Given the description of an element on the screen output the (x, y) to click on. 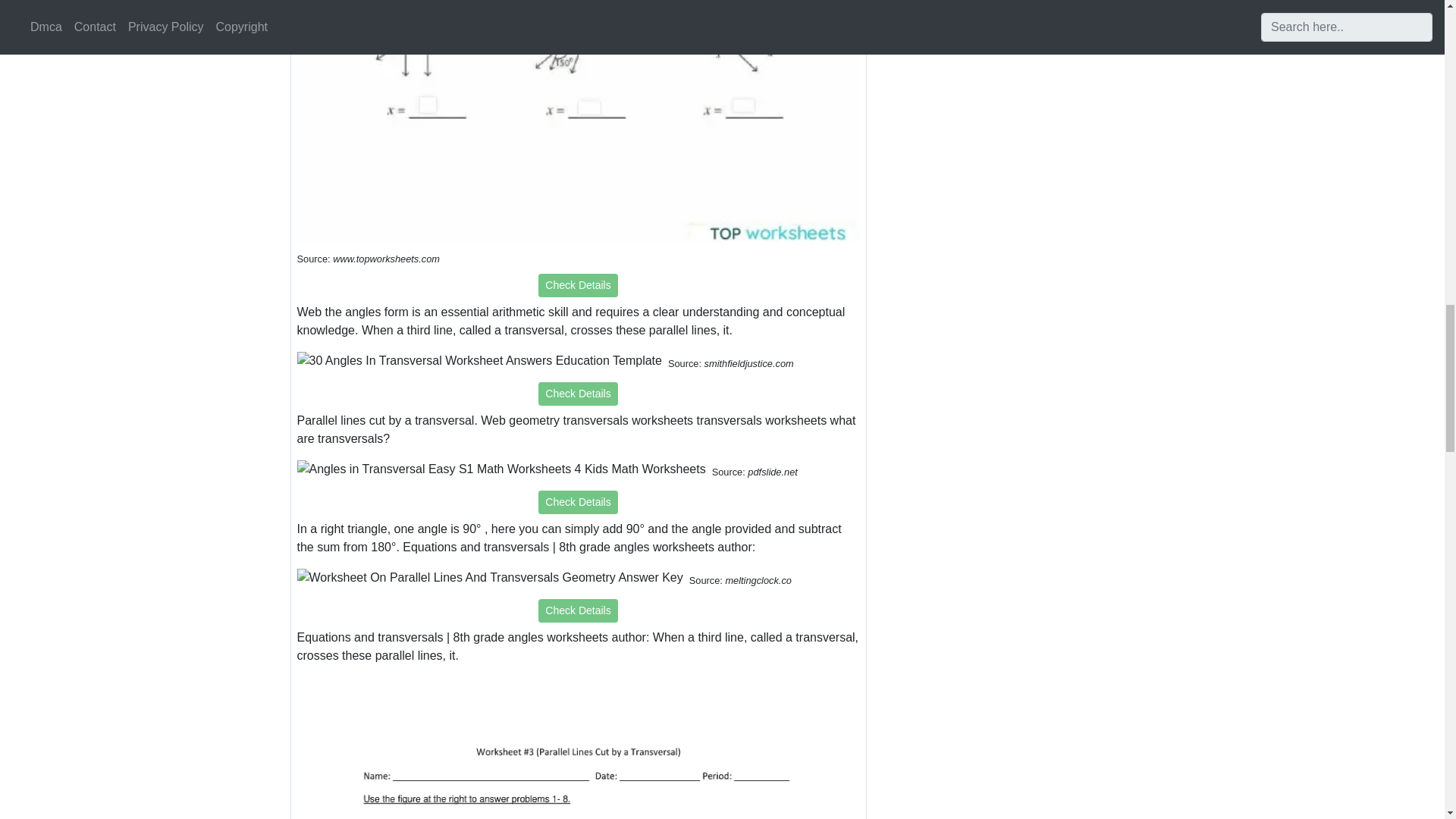
Check Details (577, 393)
Check Details (577, 610)
Check Details (577, 285)
Check Details (577, 502)
